Given the description of an element on the screen output the (x, y) to click on. 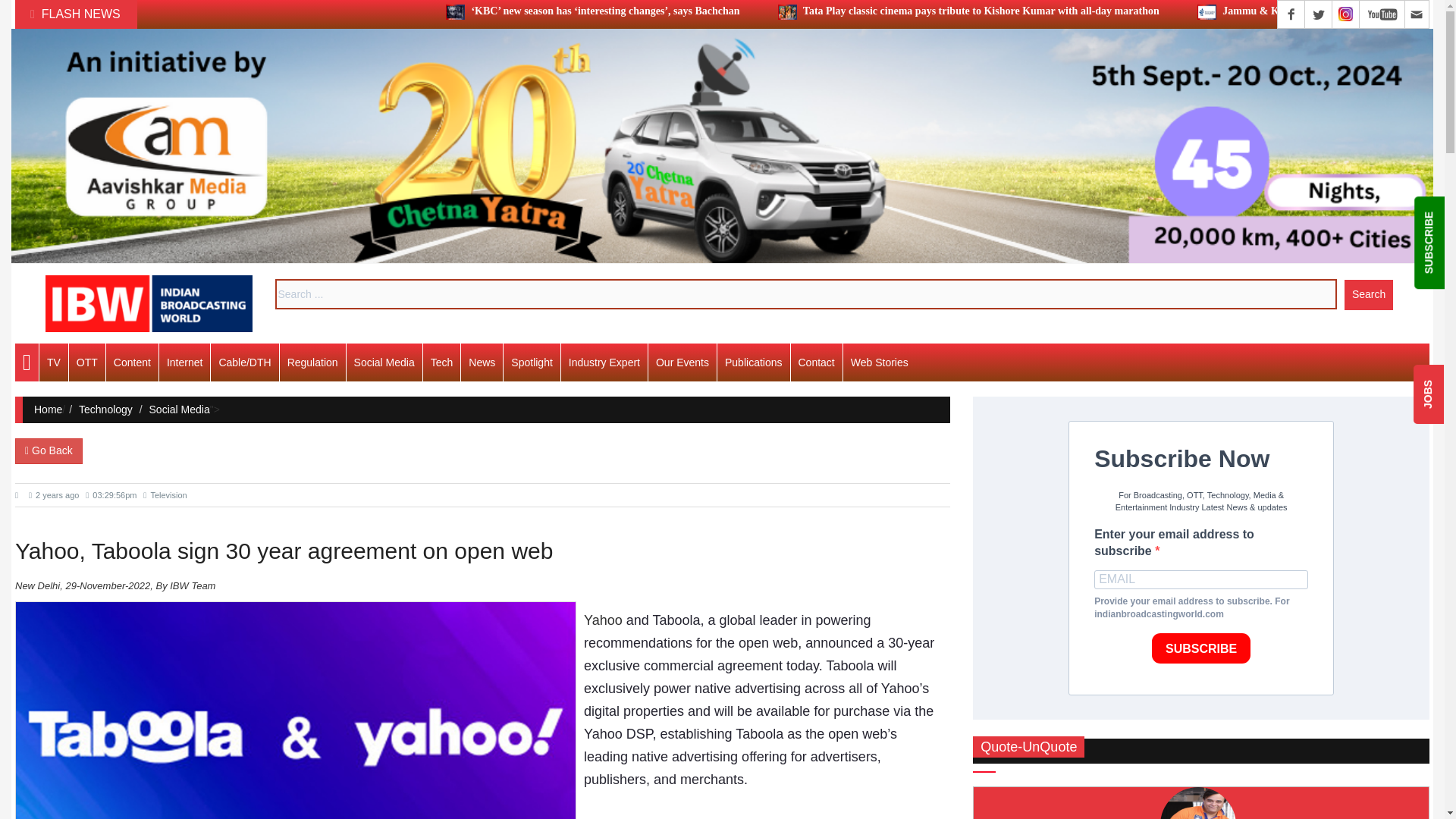
SC moves cable TV rules challenge to Delhi HC (376, 675)
NDTV Q1 loss widens despite election-induced ad revenues (405, 404)
ABP Desam marks 3 years of excellence (360, 133)
